Given the description of an element on the screen output the (x, y) to click on. 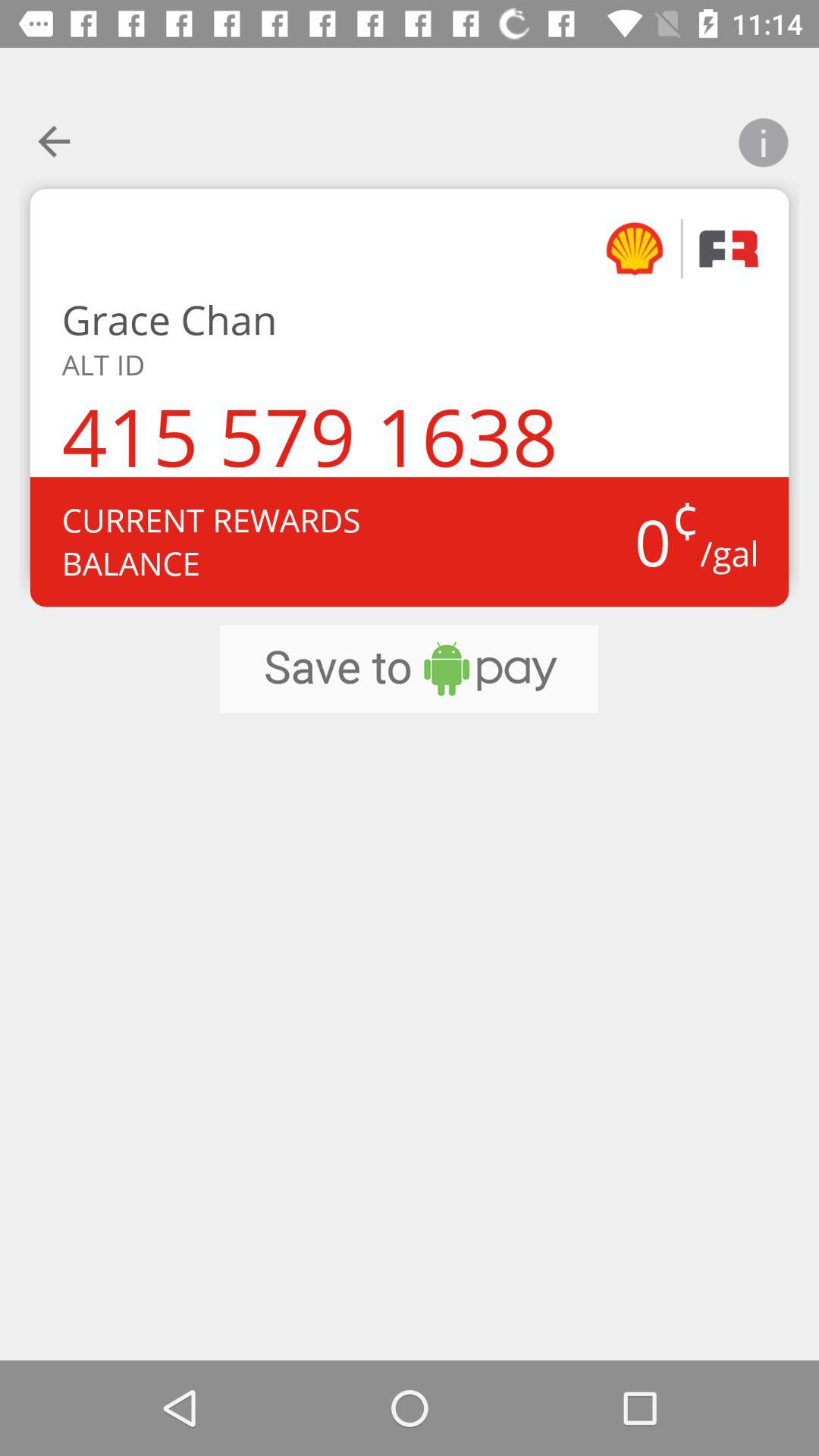
information button (763, 132)
